Given the description of an element on the screen output the (x, y) to click on. 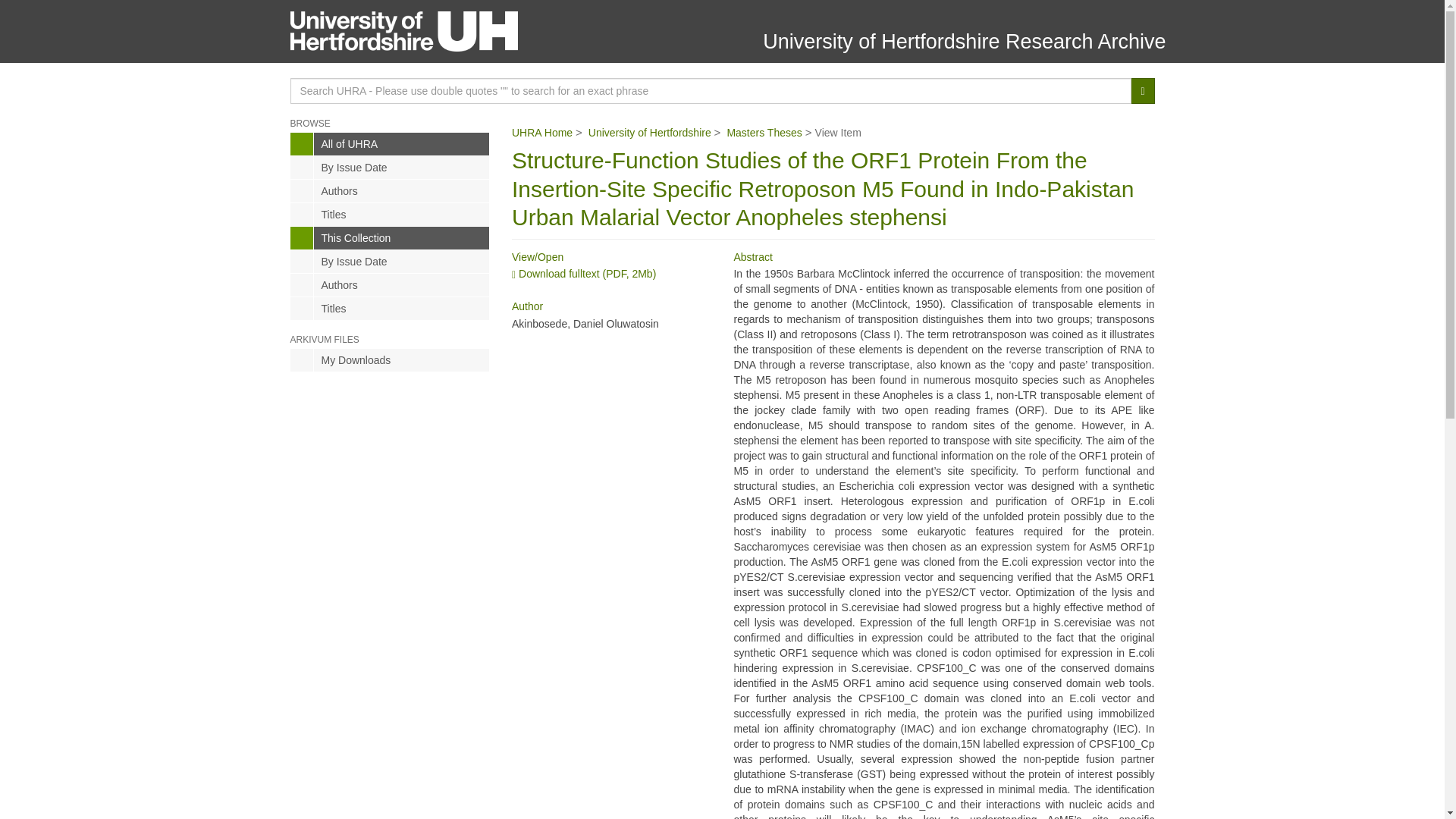
My Downloads (389, 359)
Authors (389, 190)
Titles (389, 308)
Titles (389, 214)
All of UHRA (389, 143)
UHRA Home (542, 132)
Masters Theses (764, 132)
Go (1142, 90)
By Issue Date (389, 167)
By Issue Date (389, 261)
Authors (389, 284)
This Collection (389, 237)
University of Hertfordshire (649, 132)
